Given the description of an element on the screen output the (x, y) to click on. 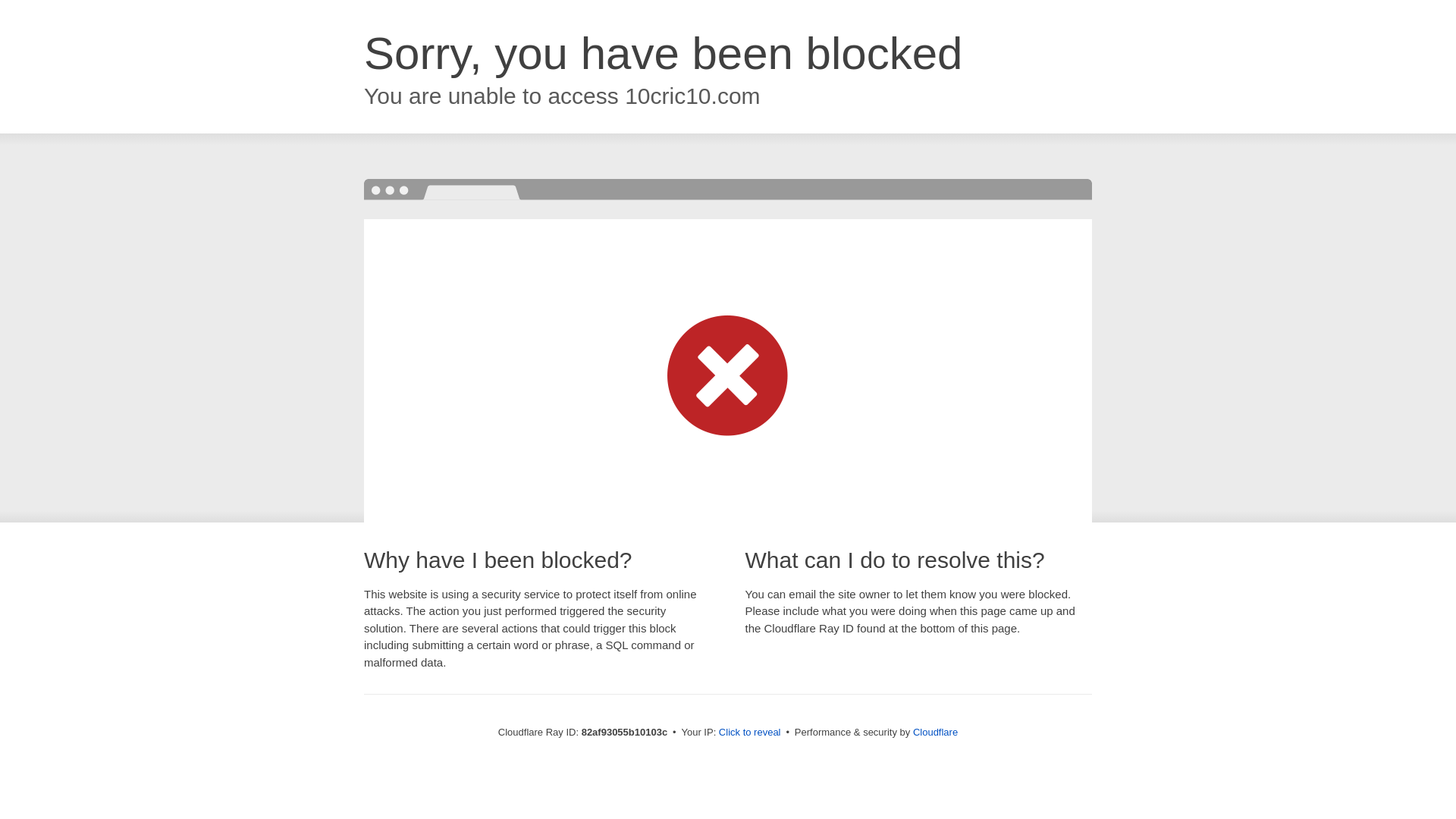
Click to reveal Element type: text (749, 732)
Cloudflare Element type: text (935, 731)
